Given the description of an element on the screen output the (x, y) to click on. 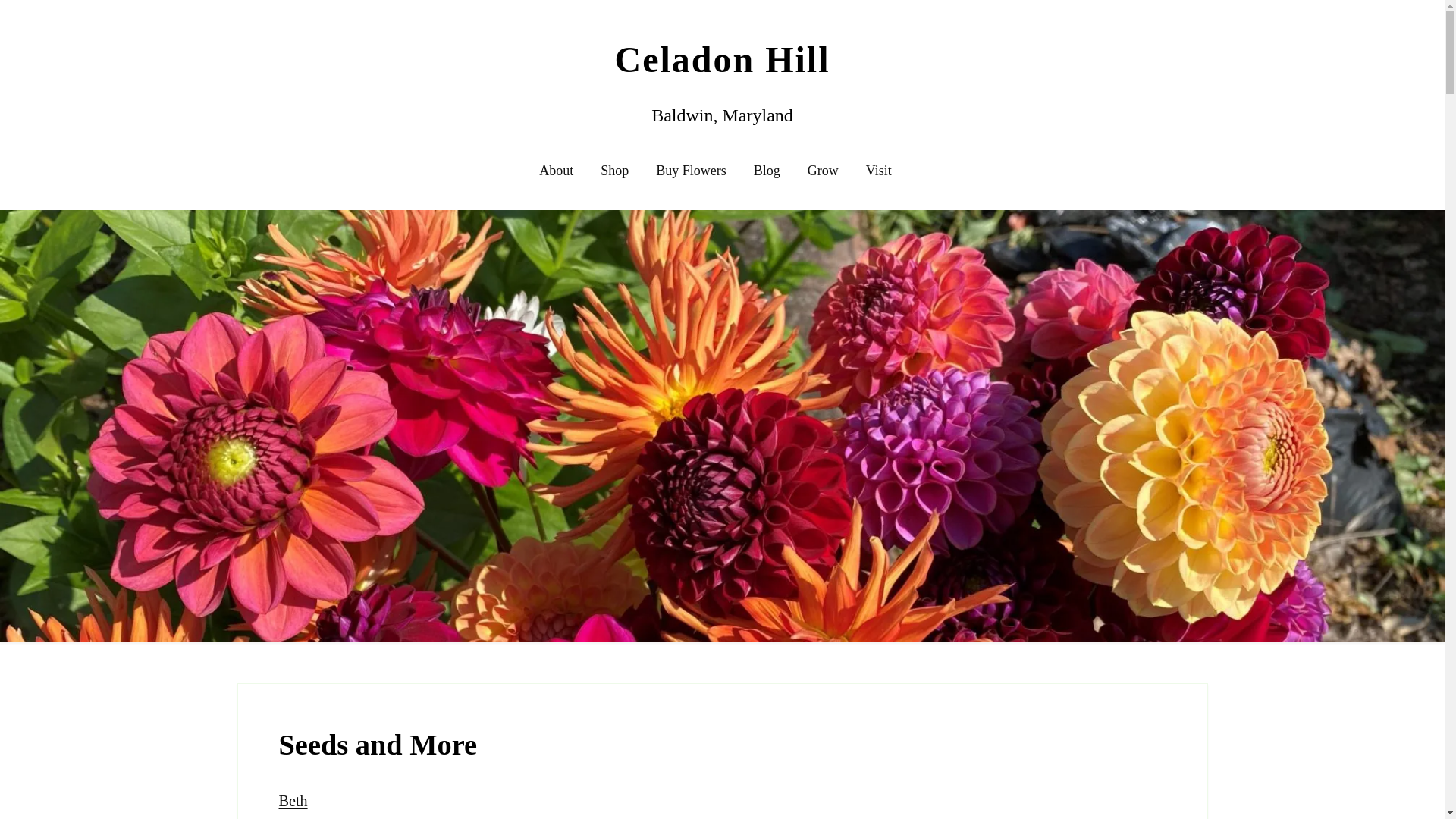
Photos (568, 285)
Buy Flowers (691, 171)
Buckets of Blooms (701, 244)
Why Buy Local? (592, 325)
Subscribe (776, 204)
Cart (610, 204)
Amaryllis (831, 285)
Paperwhites (836, 325)
Cut Flower Care (847, 366)
Celadon Hill (721, 59)
